Given the description of an element on the screen output the (x, y) to click on. 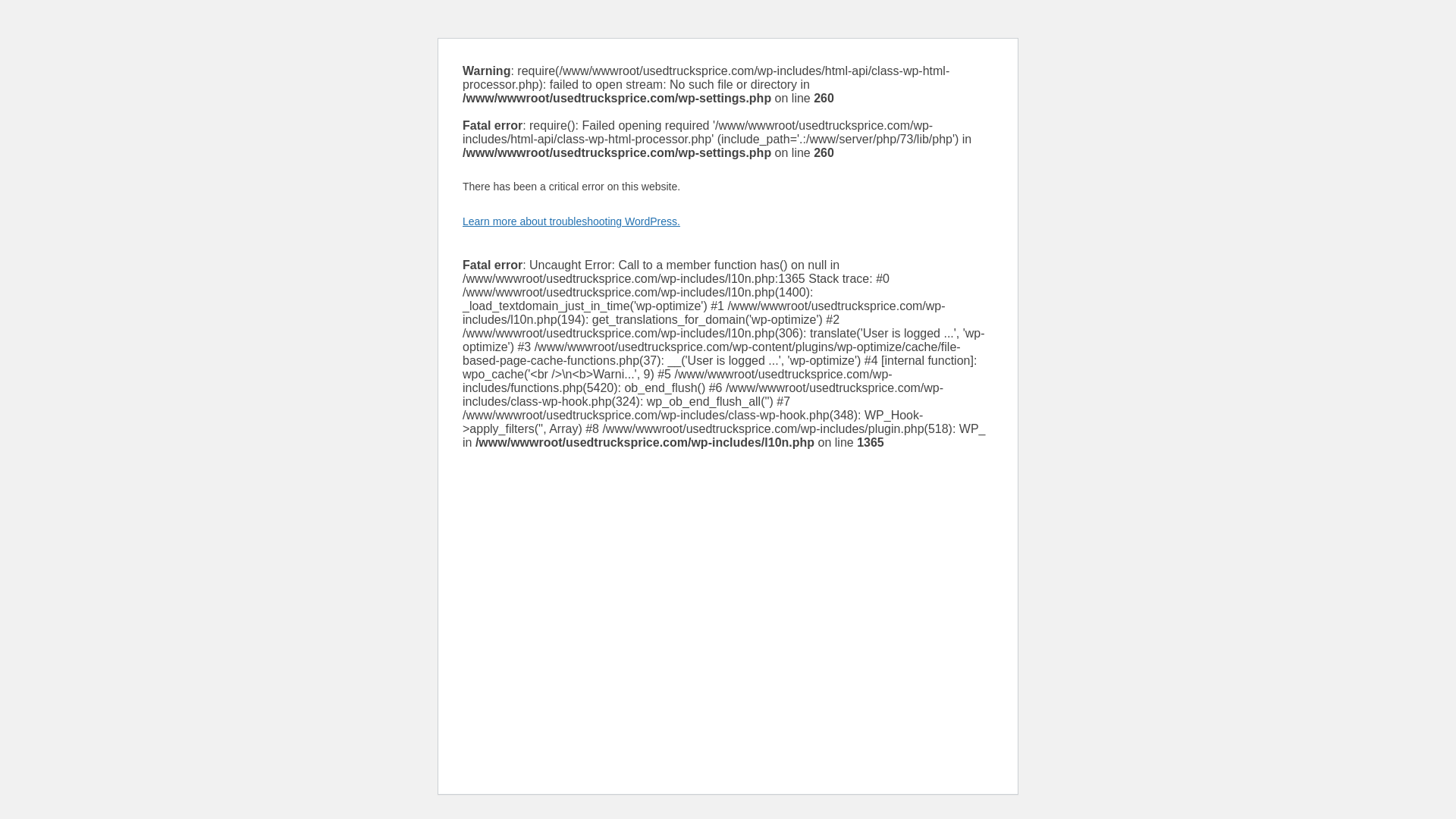
Learn more about troubleshooting WordPress. (571, 221)
